Given the description of an element on the screen output the (x, y) to click on. 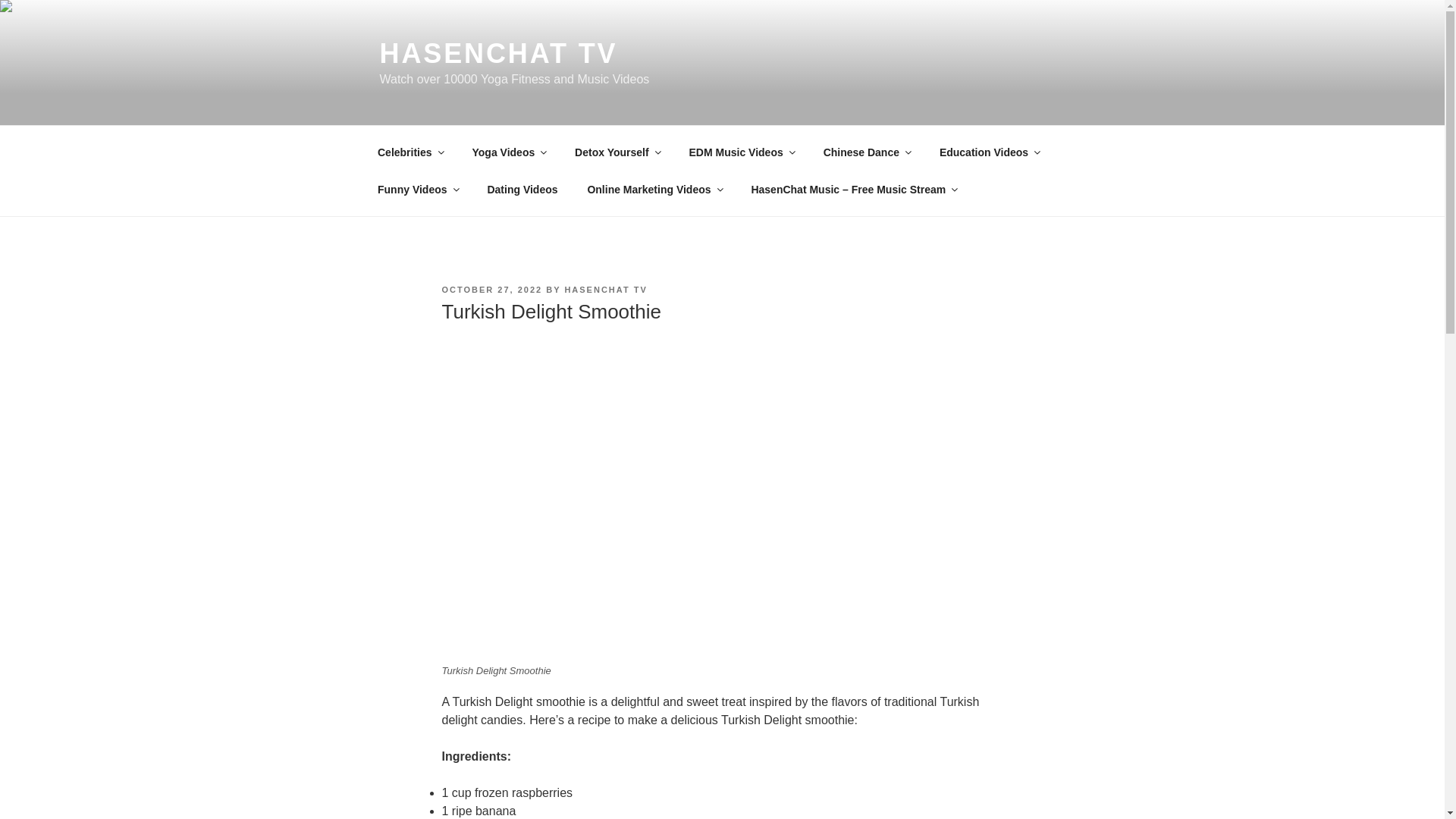
Celebrities (409, 151)
Detox Yourself (617, 151)
HASENCHAT TV (497, 52)
EDM Music Videos (740, 151)
Yoga Videos (508, 151)
